Given the description of an element on the screen output the (x, y) to click on. 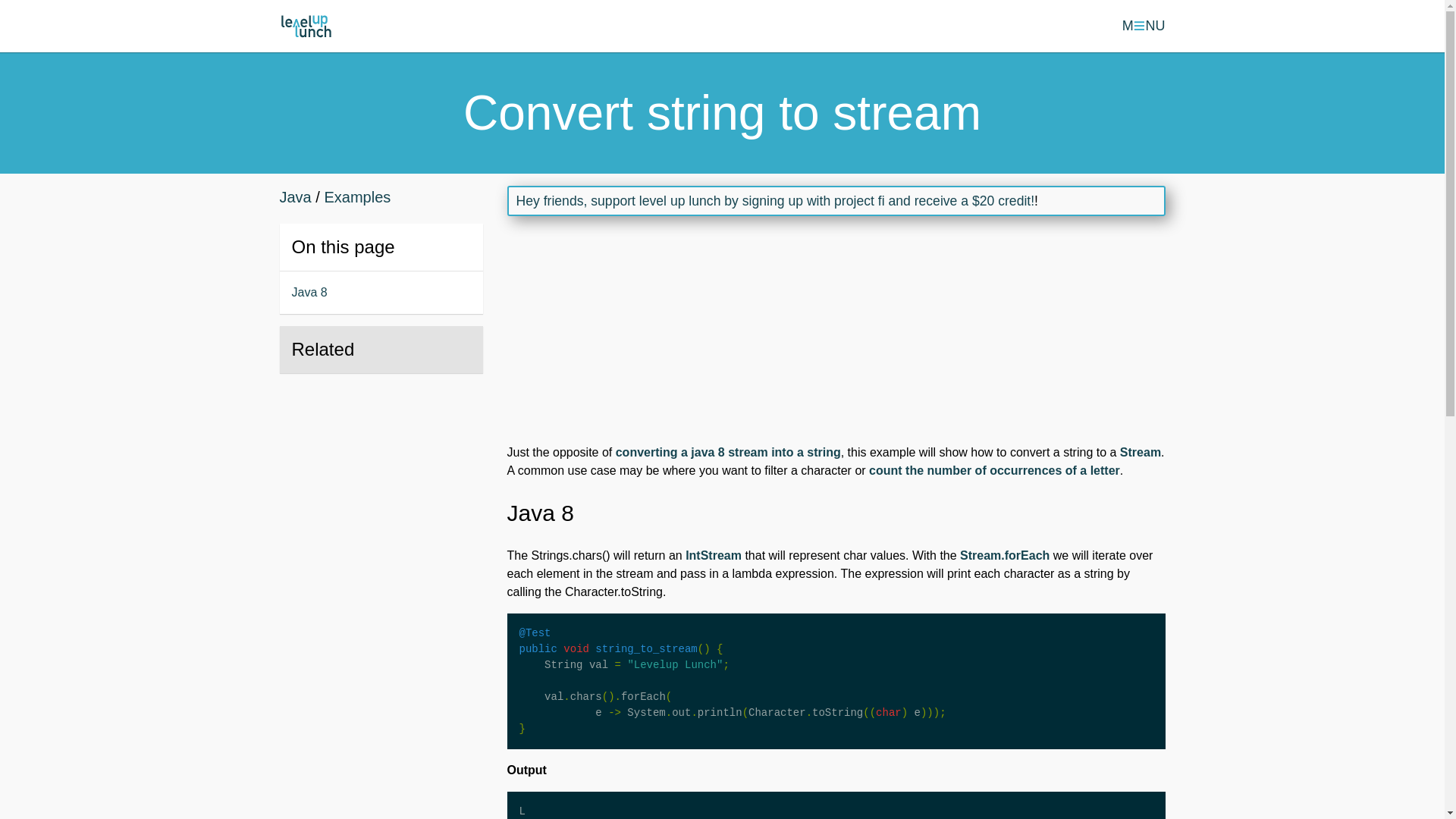
IntStream (713, 554)
count the number of occurrences of a letter (994, 470)
Java 8 (380, 292)
Stream.forEach (1004, 554)
Examples (356, 197)
converting a java 8 stream into a string (728, 451)
Java (295, 197)
Stream (1139, 451)
